Given the description of an element on the screen output the (x, y) to click on. 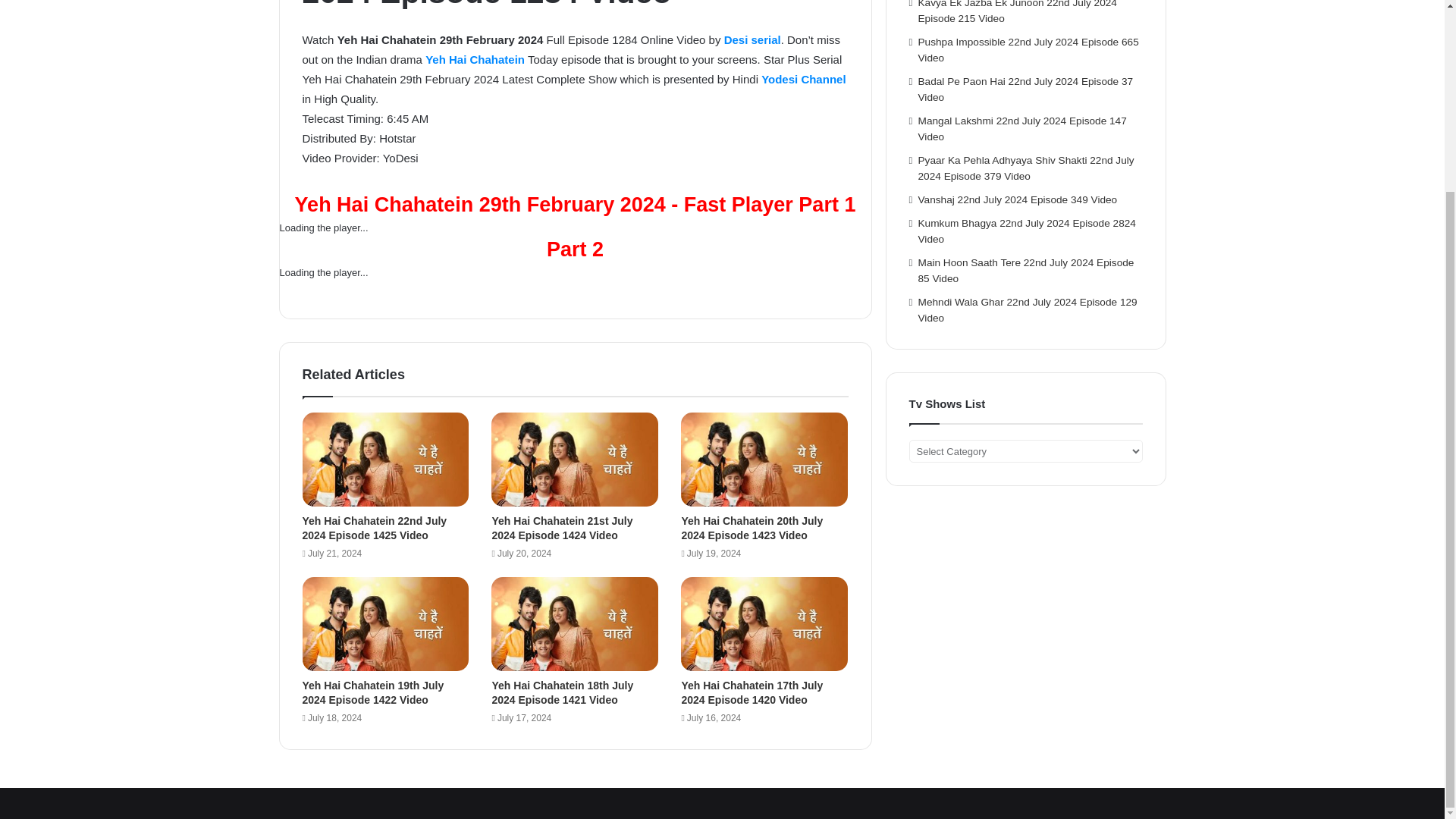
Yeh Hai Chahatein (474, 59)
Mangal Lakshmi 22nd July 2024 Episode 147 Video (1022, 128)
Badal Pe Paon Hai 22nd July 2024 Episode 37 Video (1026, 89)
Yeh Hai Chahatein 22nd July 2024 Episode 1425 Video (373, 528)
Yeh Hai Chahatein 17th July 2024 Episode 1420 Video (751, 692)
Yeh Hai Chahatein 20th July 2024 Episode 1423 Video (751, 528)
Vanshaj 22nd July 2024 Episode 349 Video (1018, 199)
Yeh Hai Chahatein 18th July 2024 Episode 1421 Video (562, 692)
Mehndi Wala Ghar 22nd July 2024 Episode 129 Video (1027, 309)
Kavya Ek Jazba Ek Junoon 22nd July 2024 Episode 215 Video (1017, 12)
Desi serial (751, 39)
Yeh Hai Chahatein 21st July 2024 Episode 1424 Video (561, 528)
Main Hoon Saath Tere 22nd July 2024 Episode 85 Video (1026, 270)
Kumkum Bhagya 22nd July 2024 Episode 2824 Video (1026, 230)
